Given the description of an element on the screen output the (x, y) to click on. 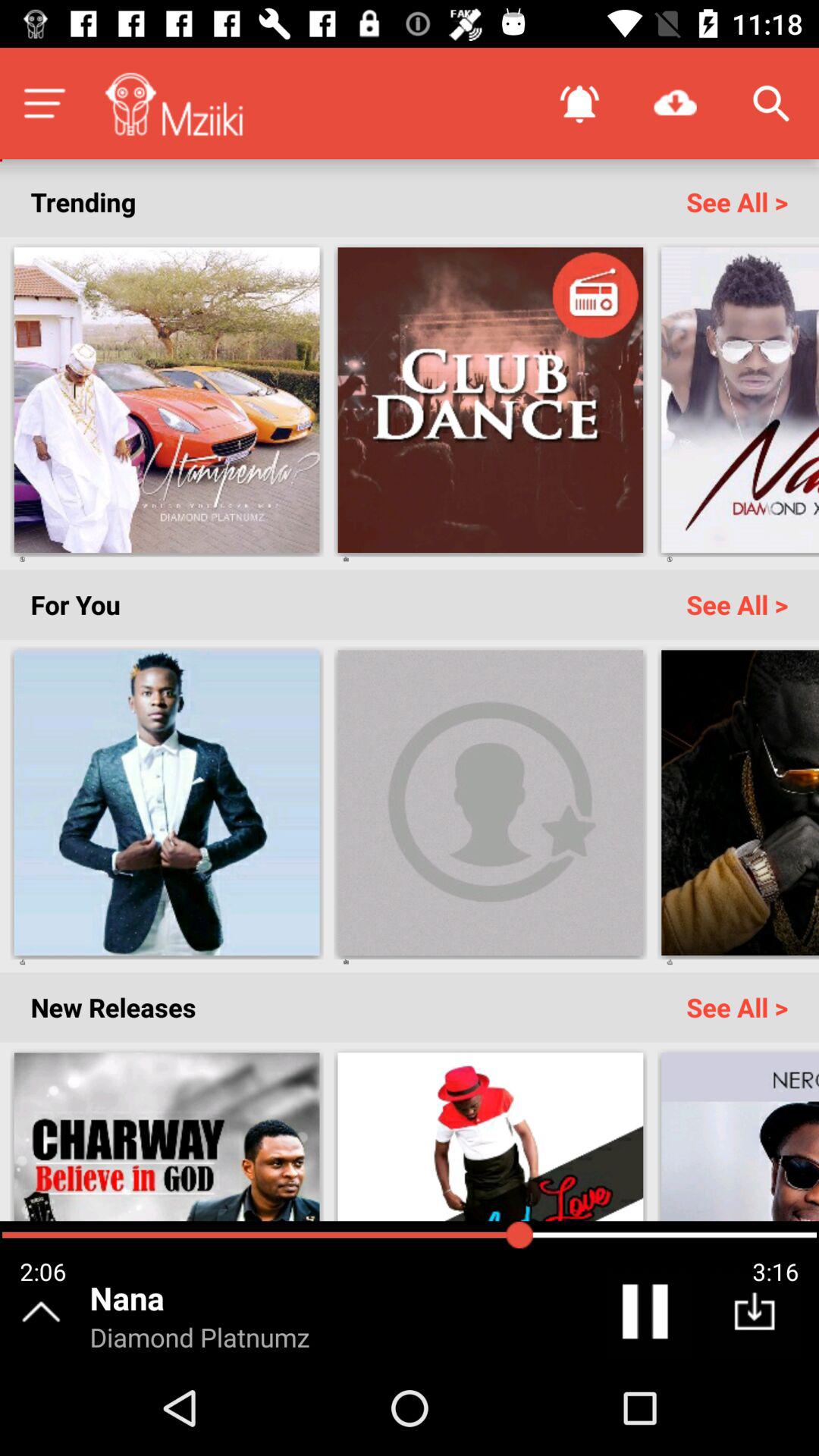
launch item above see all > (675, 103)
